Given the description of an element on the screen output the (x, y) to click on. 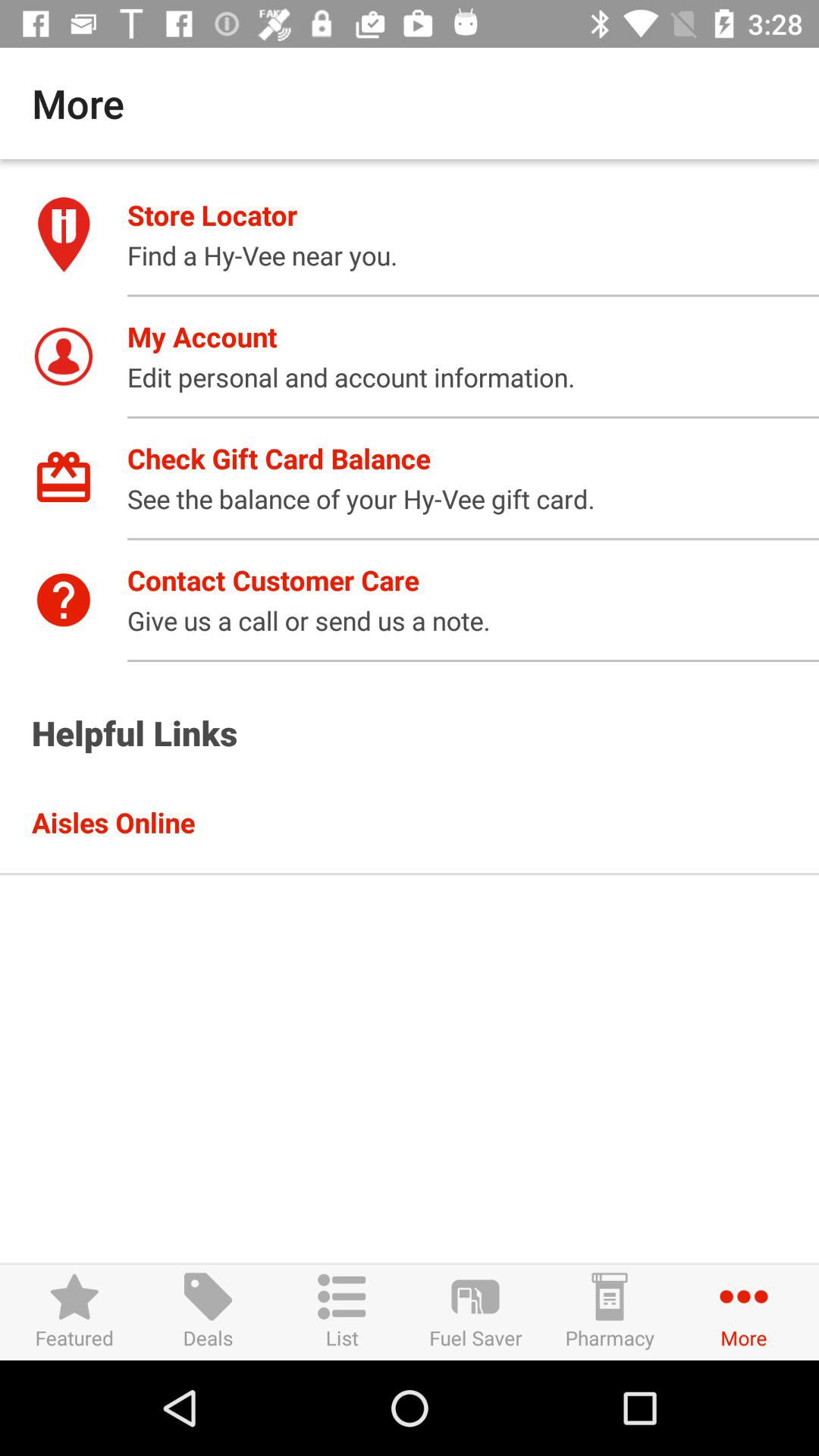
turn on pharmacy item (609, 1311)
